Given the description of an element on the screen output the (x, y) to click on. 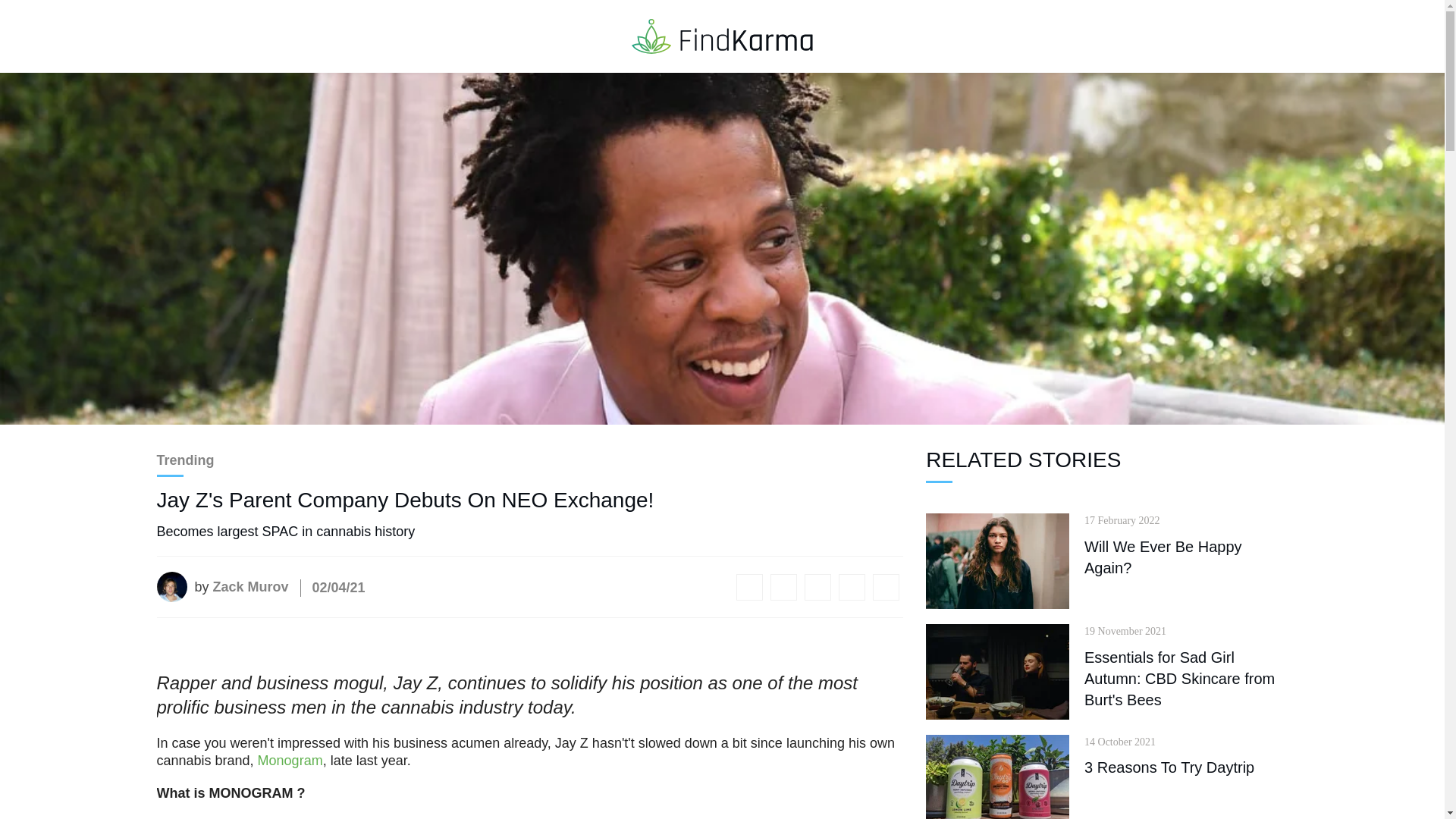
Find Karma (721, 34)
Monogram (188, 818)
Monogram (290, 760)
Zack Murov (240, 587)
Trending (184, 460)
